Given the description of an element on the screen output the (x, y) to click on. 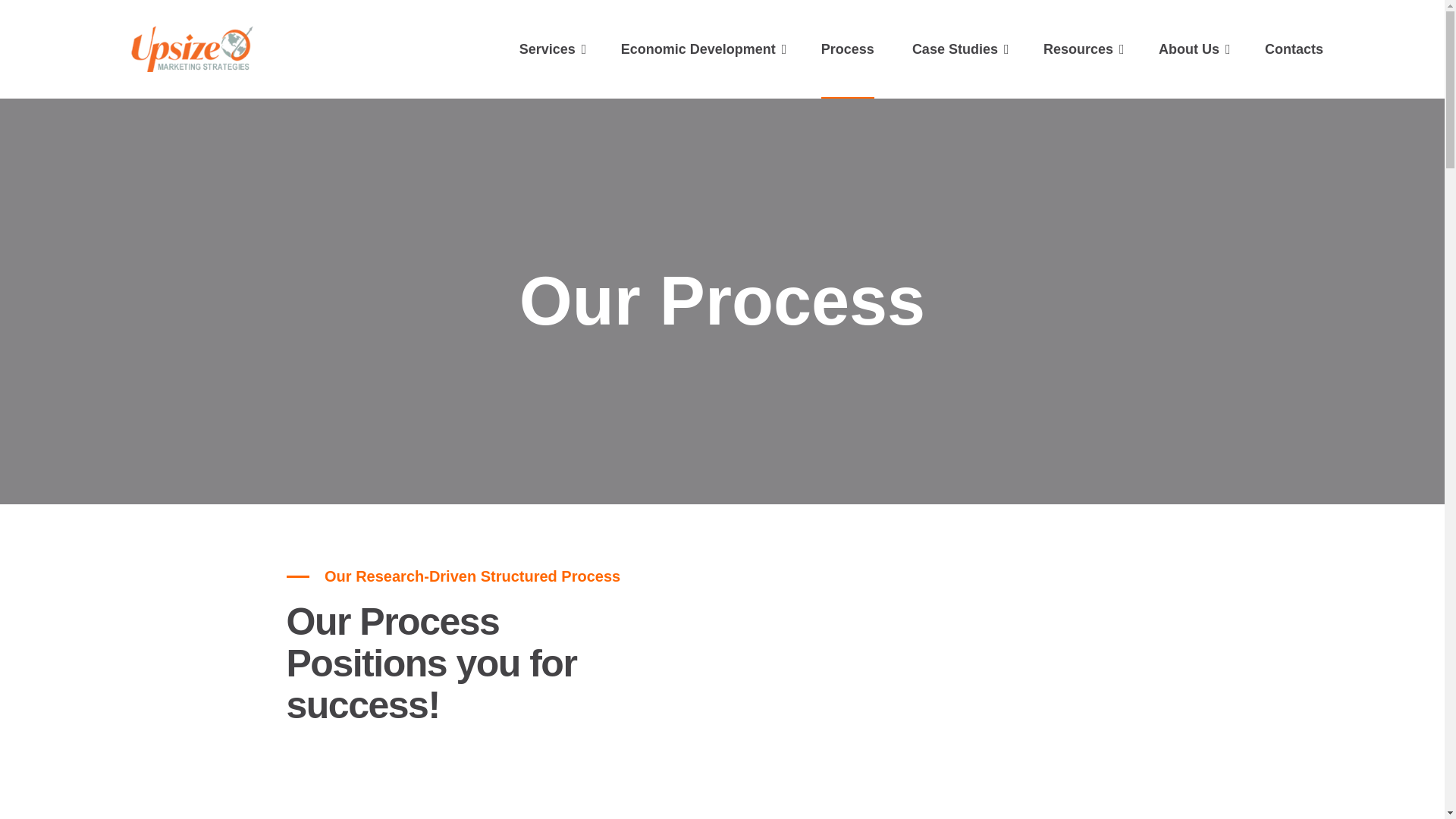
Economic Development (698, 49)
UpSize Marketing Strategies (201, 48)
